Given the description of an element on the screen output the (x, y) to click on. 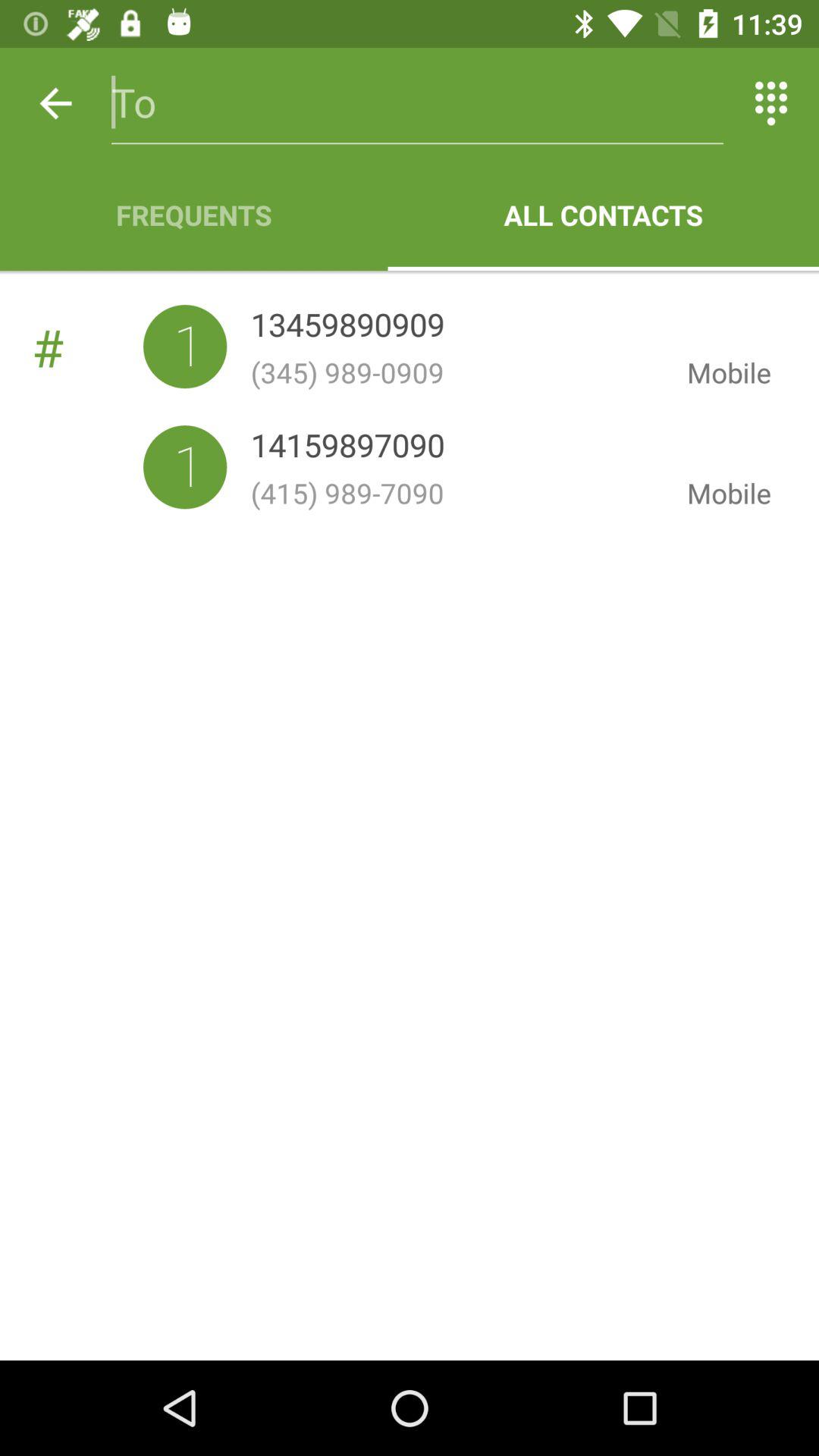
select item to the right of the frequents icon (603, 214)
